Given the description of an element on the screen output the (x, y) to click on. 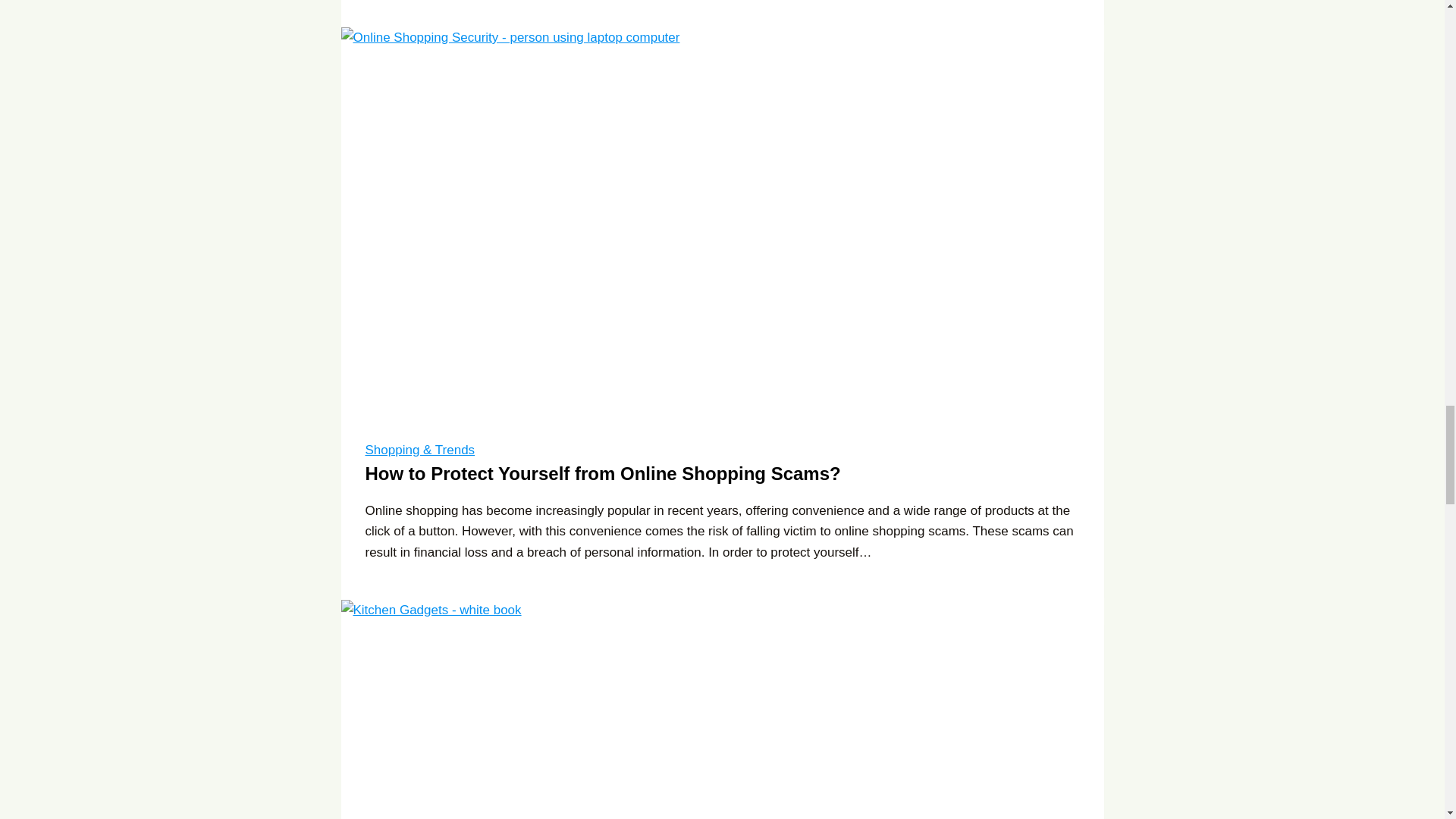
How to Protect Yourself from Online Shopping Scams? (603, 473)
